Given the description of an element on the screen output the (x, y) to click on. 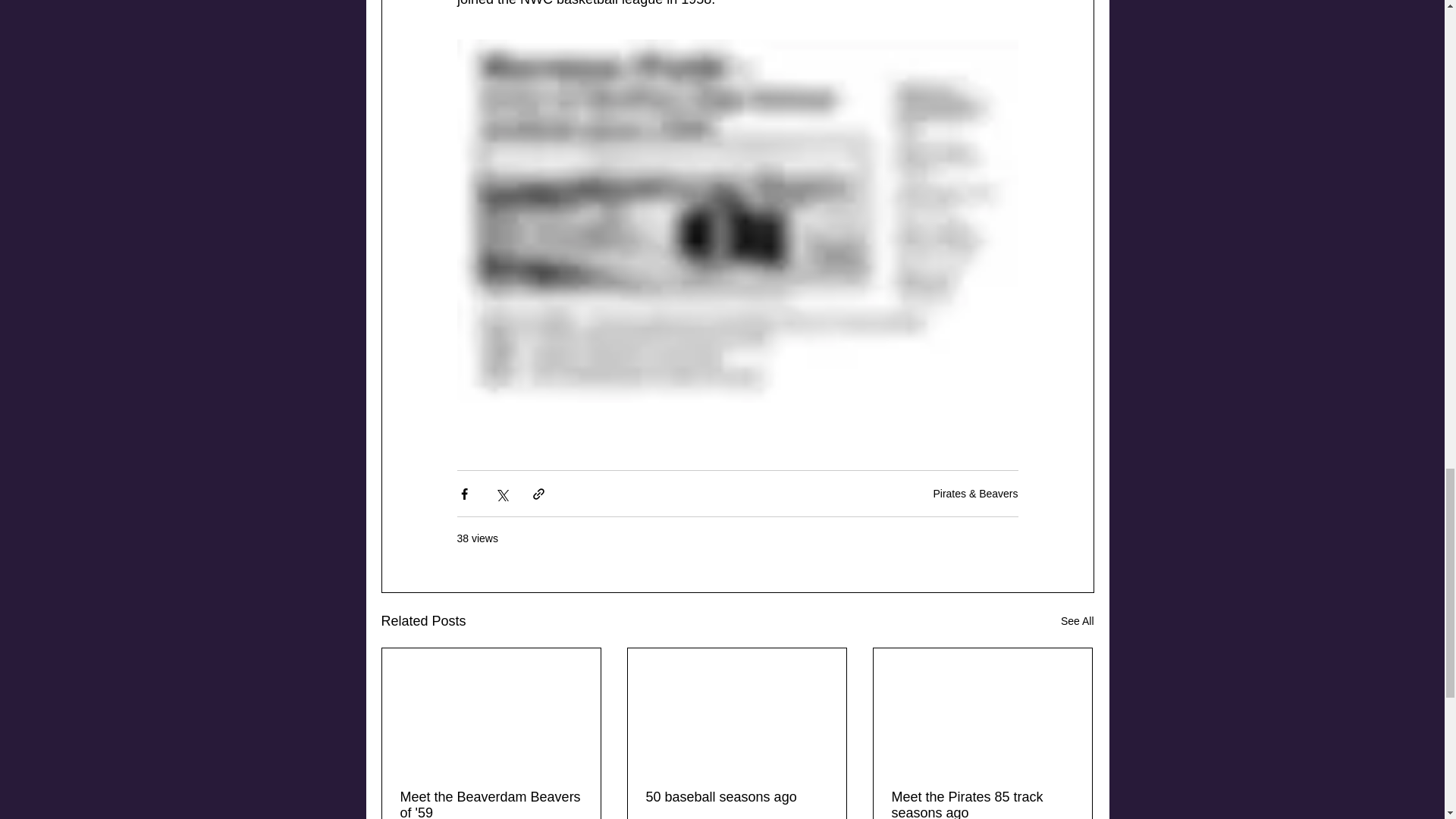
Meet the Beaverdam Beavers of '59 (491, 804)
See All (1077, 621)
50 baseball seasons ago (737, 797)
